Given the description of an element on the screen output the (x, y) to click on. 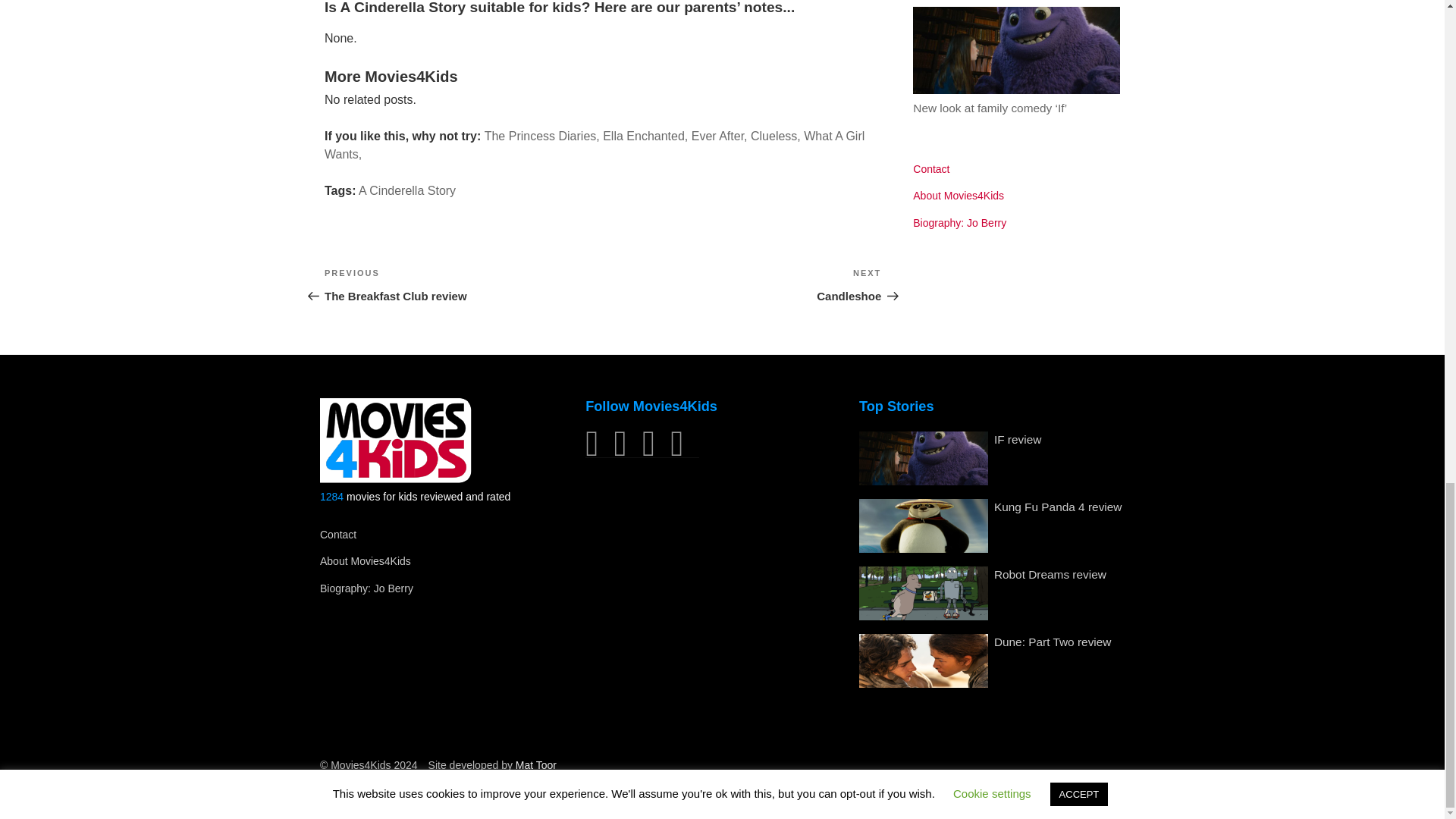
Ever After, (719, 135)
The Princess Diaries, (541, 135)
What A Girl Wants, (594, 144)
Ella Enchanted, (644, 135)
Clueless, (463, 284)
A Cinderella Story (775, 135)
